Given the description of an element on the screen output the (x, y) to click on. 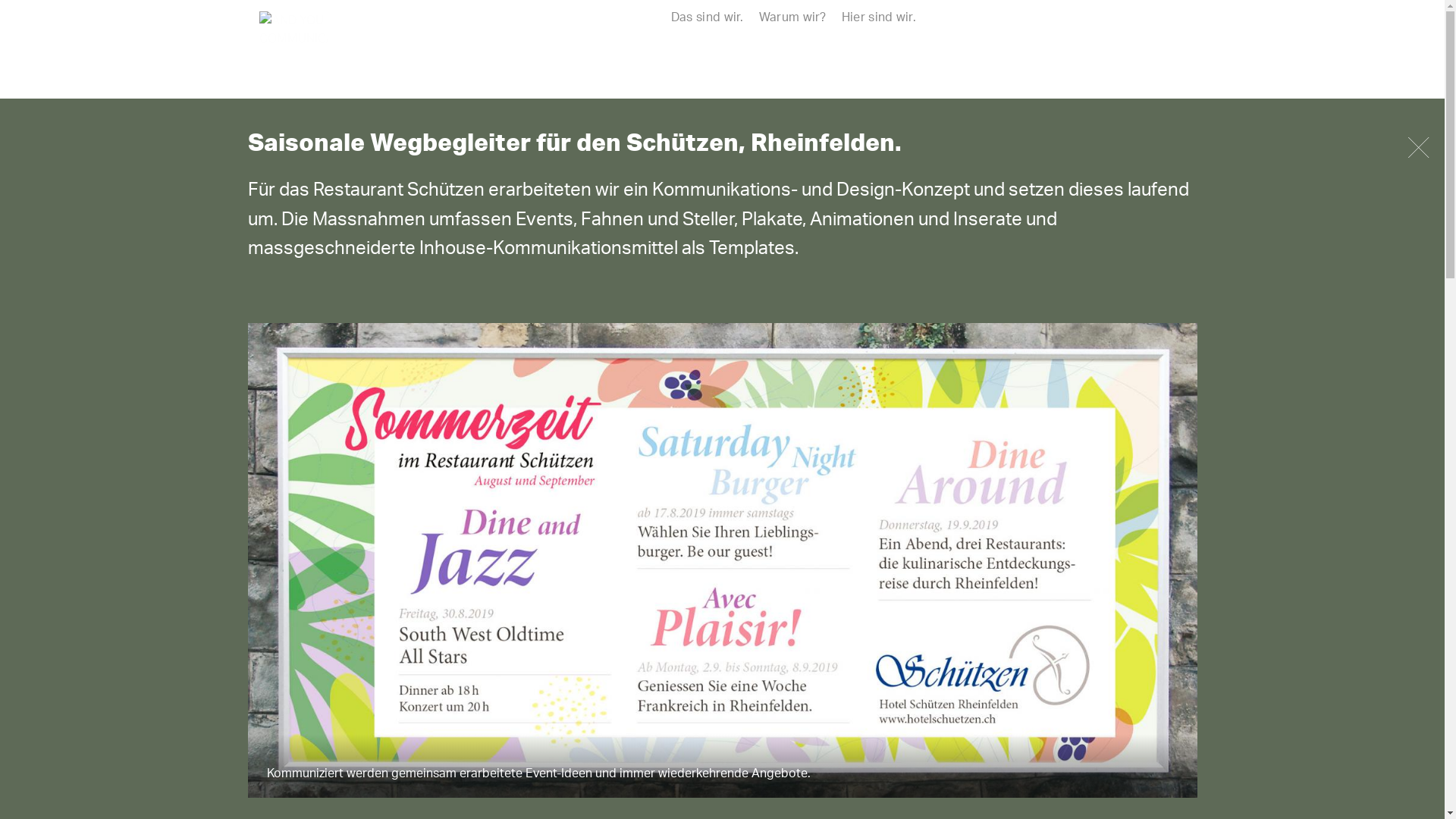
Hier sind wir. Element type: text (878, 17)
Das sind wir. Element type: text (707, 17)
Warum wir? Element type: text (792, 17)
